Given the description of an element on the screen output the (x, y) to click on. 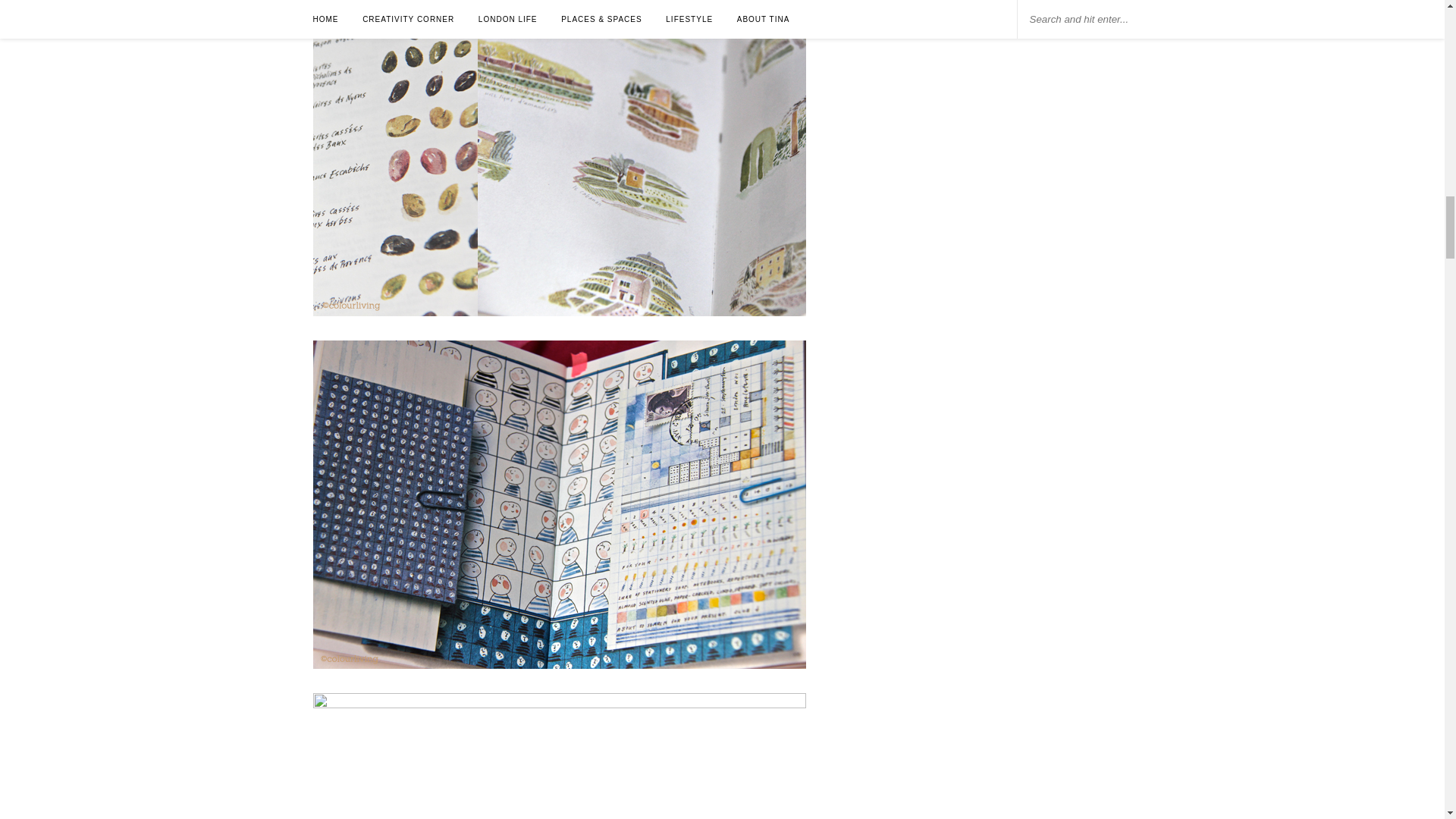
blog sara midda 8 (559, 755)
